Given the description of an element on the screen output the (x, y) to click on. 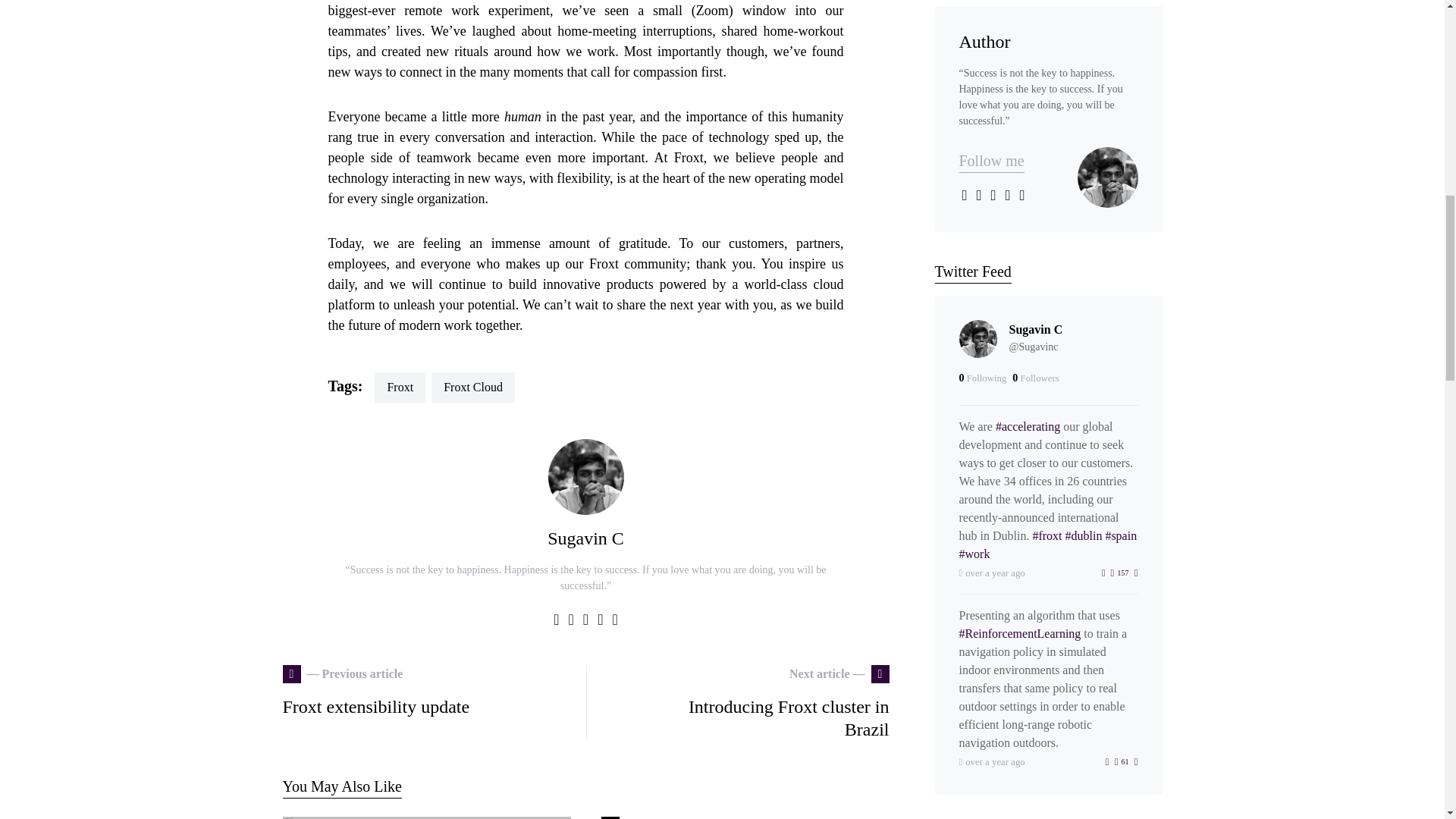
Sugavin C (646, 817)
Froxt Cloud (585, 537)
Froxt (472, 387)
